Given the description of an element on the screen output the (x, y) to click on. 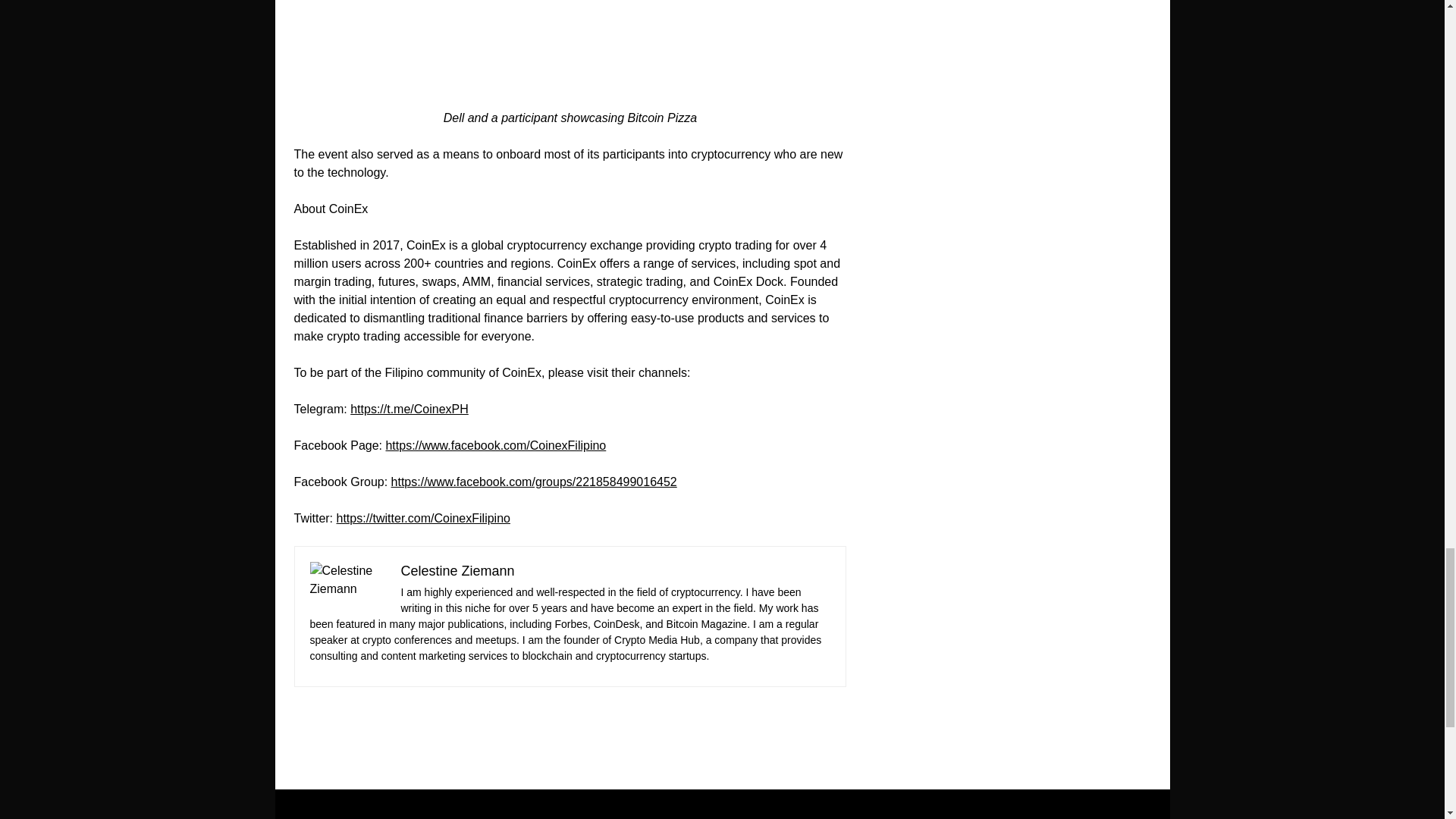
Celestine Ziemann (456, 570)
